Given the description of an element on the screen output the (x, y) to click on. 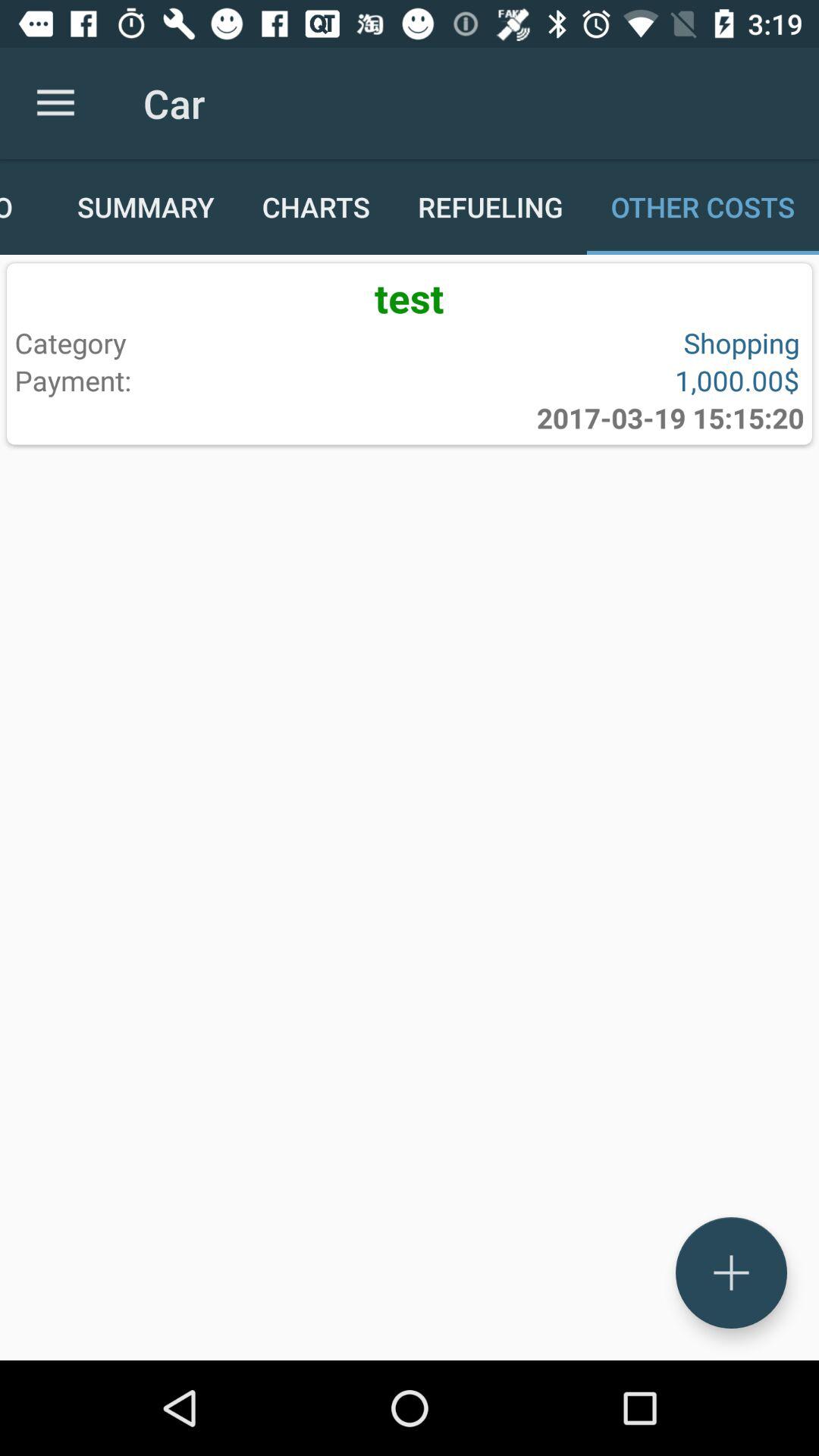
turn on the icon next to the shopping (208, 380)
